Given the description of an element on the screen output the (x, y) to click on. 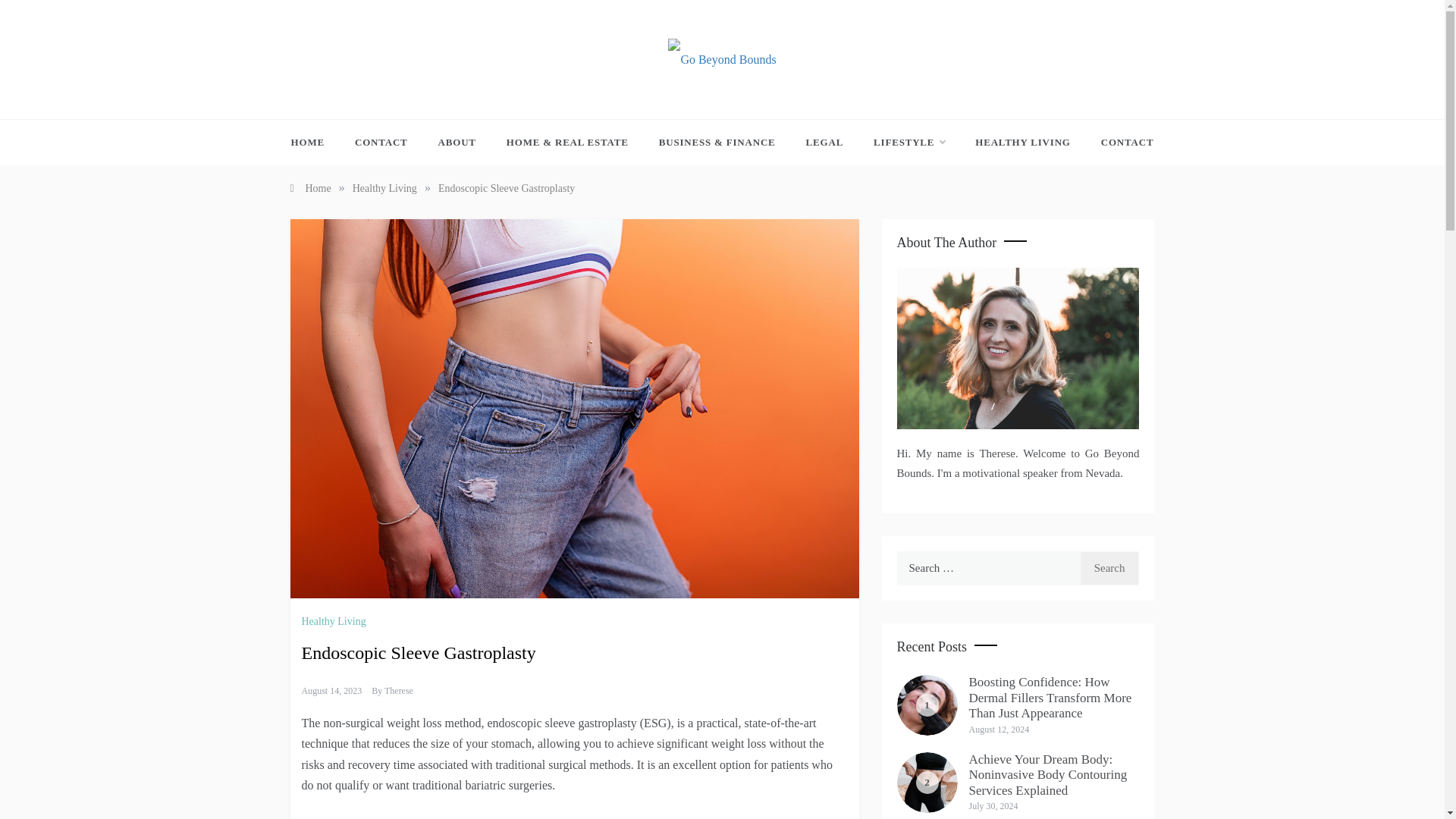
Search (1110, 568)
CONTACT (1120, 142)
Search (1110, 568)
LEGAL (824, 142)
Search (1110, 568)
August 14, 2023 (331, 690)
Home (309, 188)
Endoscopic Sleeve Gastroplasty (506, 188)
HEALTHY LIVING (1021, 142)
Therese (398, 690)
